Given the description of an element on the screen output the (x, y) to click on. 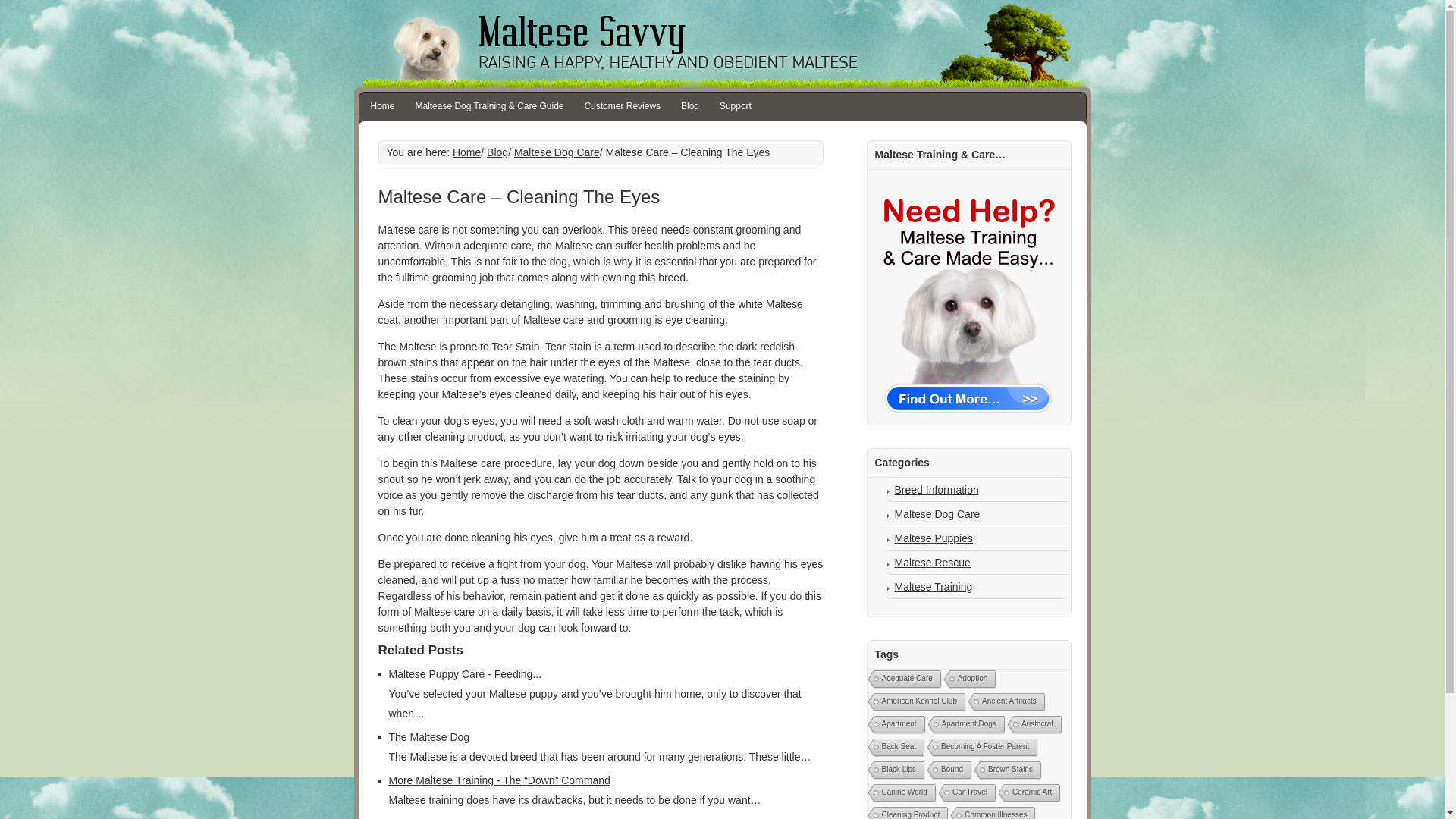
Back Seat (895, 747)
Canine World (900, 793)
Maltese Puppy Care - Feeding... (464, 674)
Apartment (895, 724)
Go to Maltese Savvy. (466, 152)
Customer Reviews (621, 106)
Support (735, 106)
Maltese Rescue (933, 562)
Apartment Dogs (965, 724)
Breed Information (936, 490)
Becoming A Foster Parent (980, 747)
Maltese Puppies (934, 538)
Maltese Dog Care (556, 152)
Cleaning Product (906, 812)
Car Travel (965, 793)
